Given the description of an element on the screen output the (x, y) to click on. 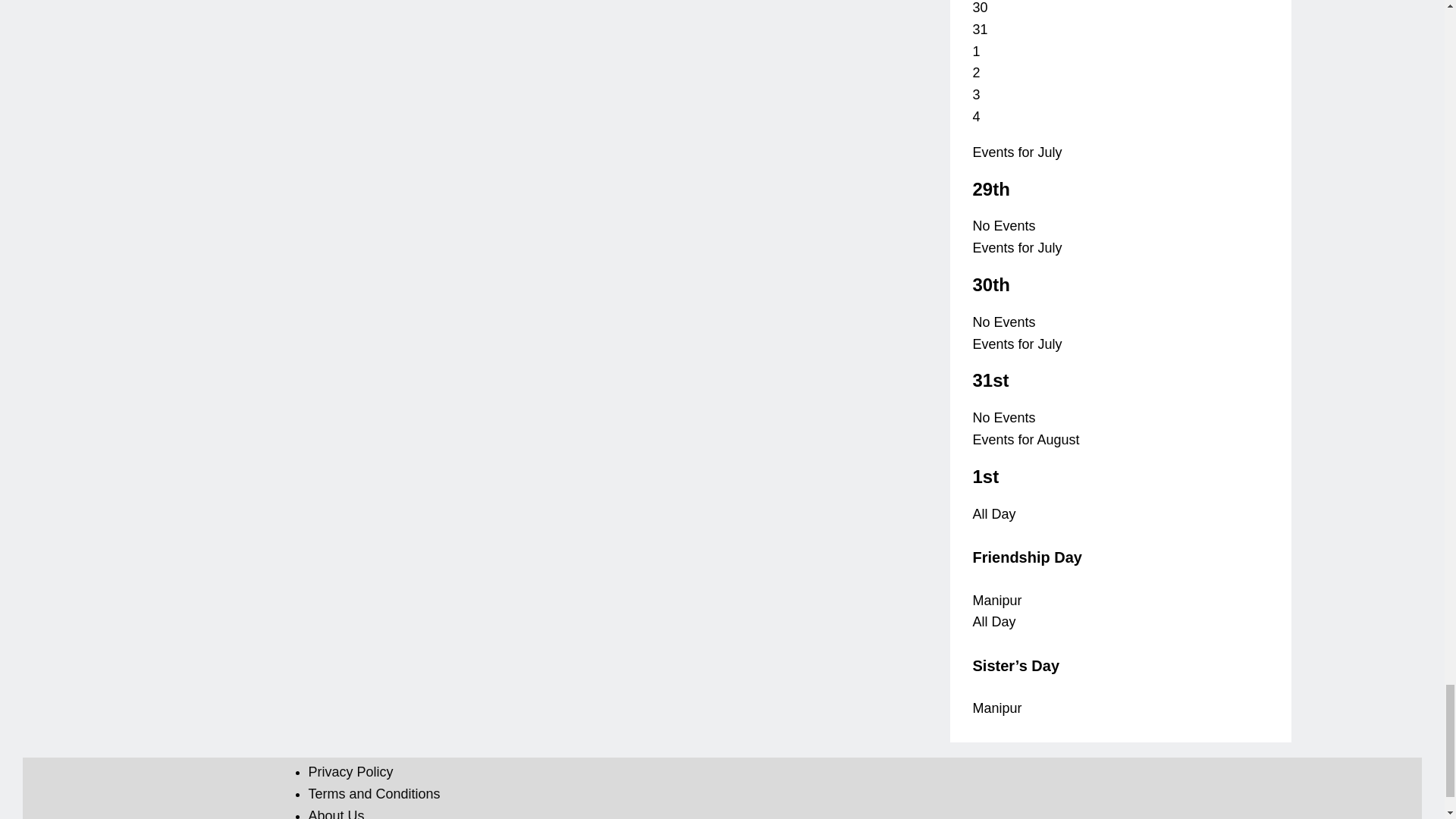
1 (975, 51)
Privacy Policy (350, 771)
About Us (335, 813)
Friendship Day (1026, 556)
Terms and Conditions (373, 793)
